Given the description of an element on the screen output the (x, y) to click on. 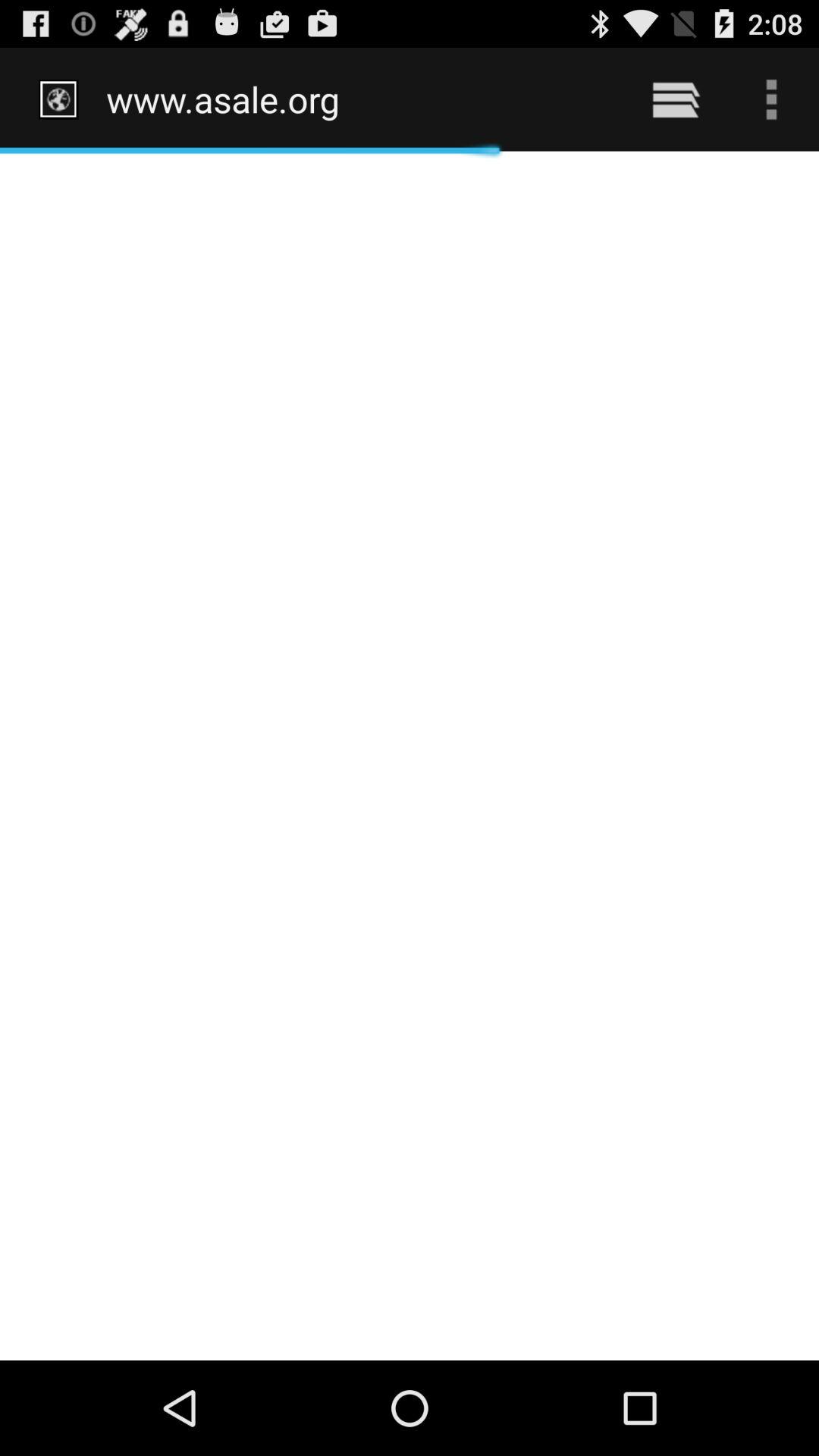
open the http www asale (357, 99)
